Given the description of an element on the screen output the (x, y) to click on. 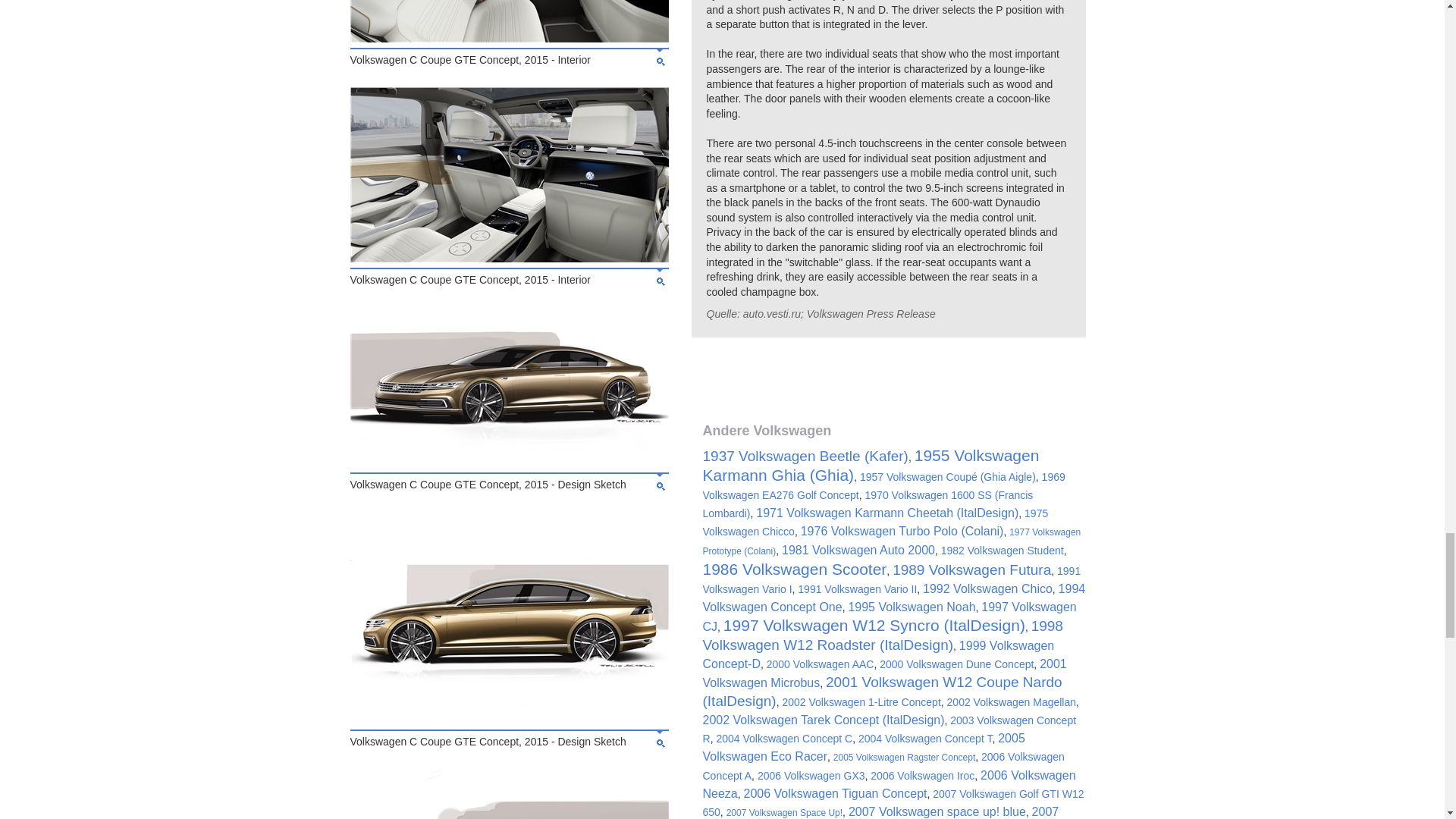
Volkswagen C Coupe GTE Concept, 2015 - Interior (509, 38)
Volkswagen C Coupe GTE Concept, 2015 - Interior (509, 258)
